Given the description of an element on the screen output the (x, y) to click on. 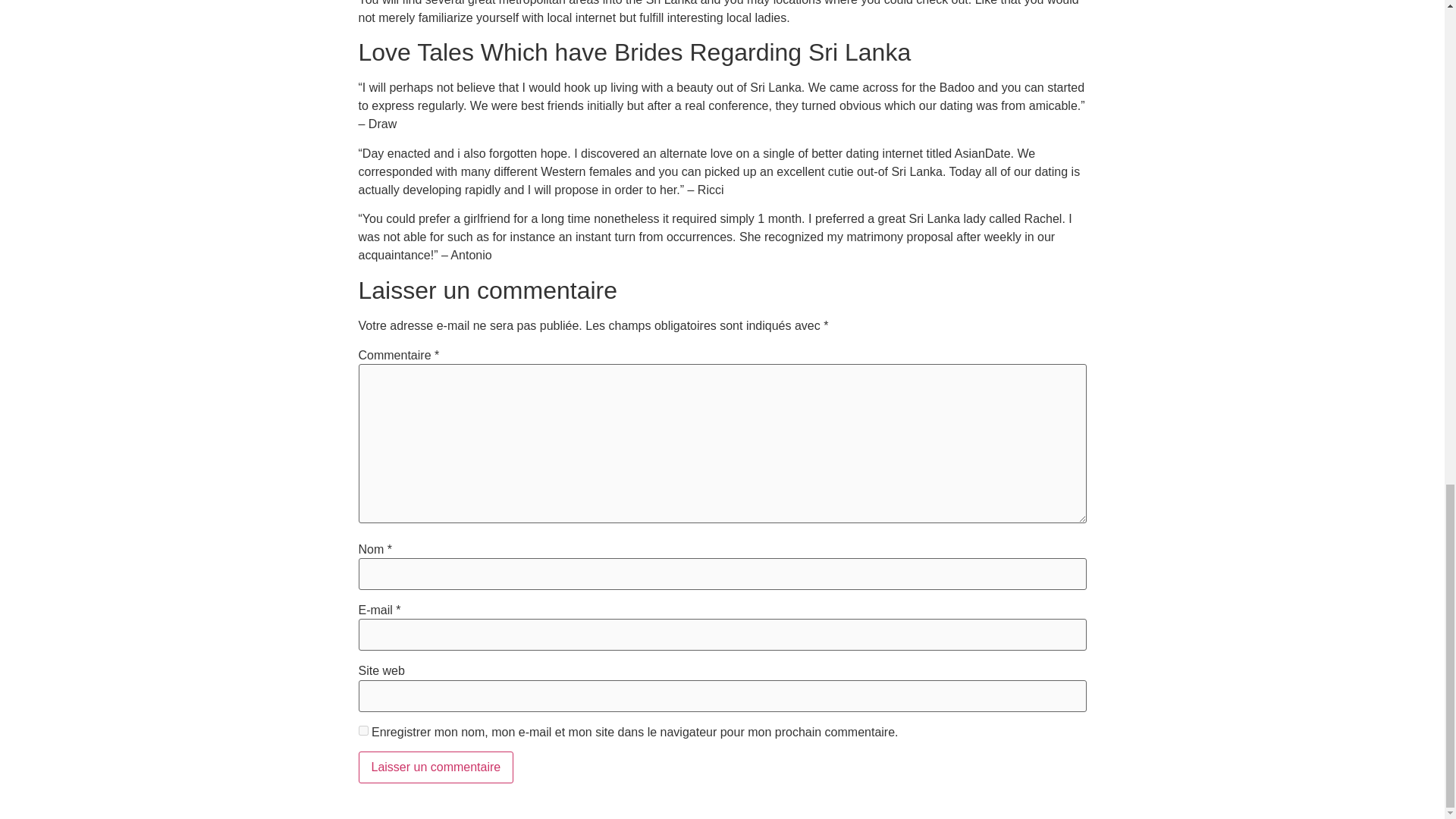
Laisser un commentaire (435, 766)
yes (363, 730)
Laisser un commentaire (435, 766)
